Given the description of an element on the screen output the (x, y) to click on. 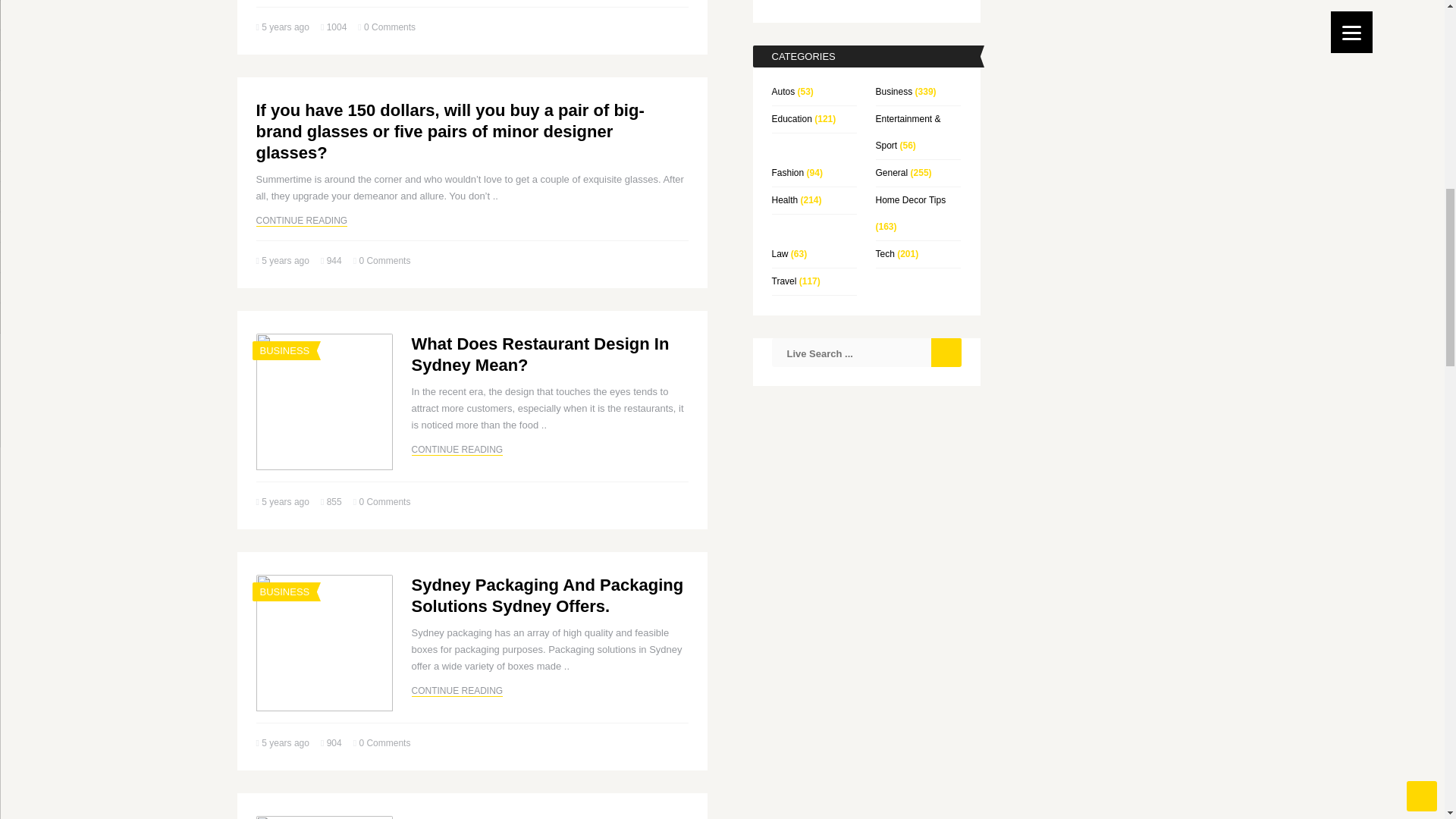
Search (945, 352)
View all posts in Business (283, 350)
View all posts in Business (283, 591)
